Given the description of an element on the screen output the (x, y) to click on. 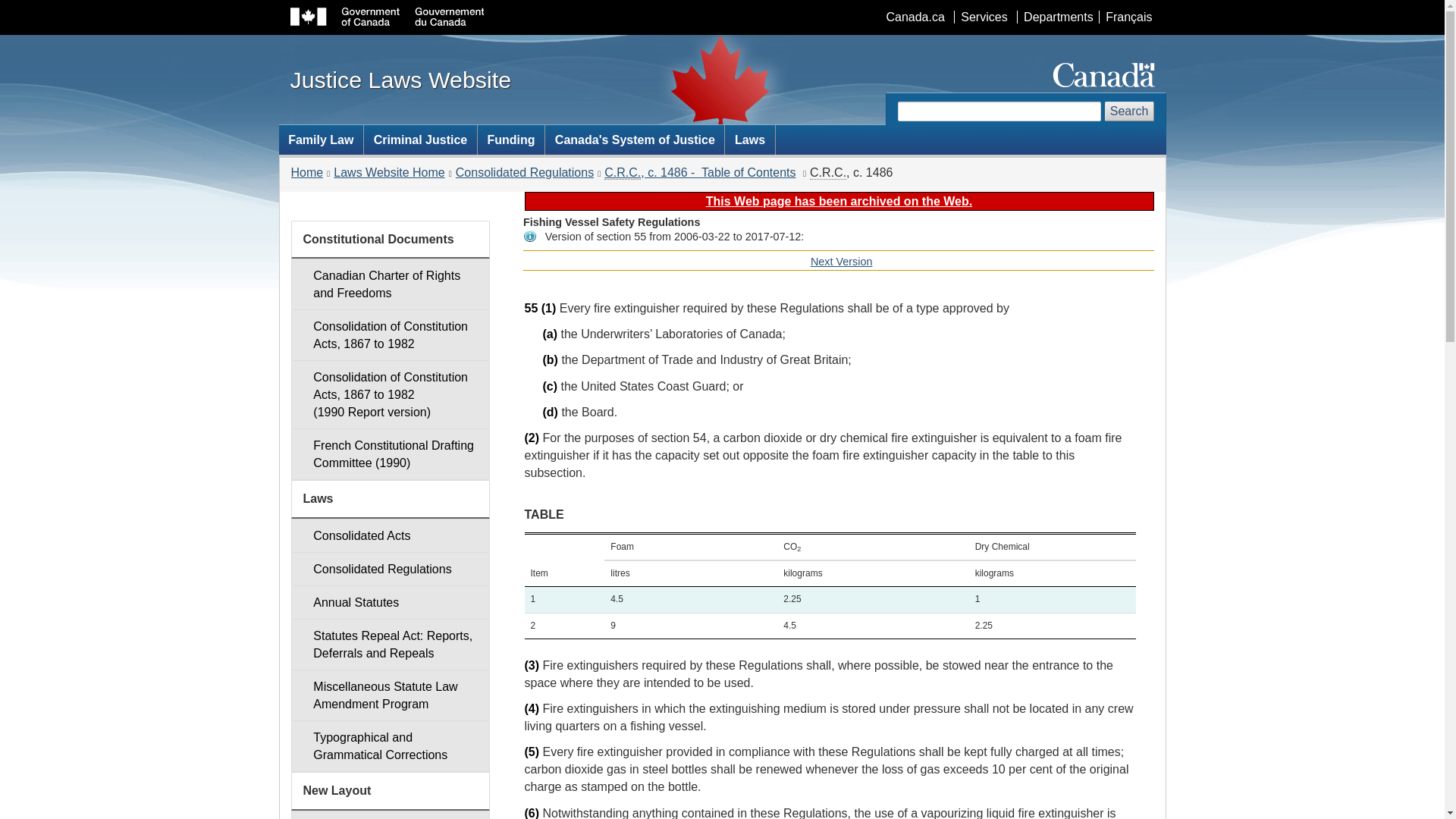
Canadian Charter of Rights and Freedoms (390, 284)
Consolidated Acts (390, 535)
Consolidated Regulations of Canada (827, 172)
Departments (1057, 16)
New Layout for Legislation (390, 814)
Consolidation of Constitution Acts, 1867 to 1982 (390, 335)
Canada.ca (914, 16)
Laws Website Home (388, 172)
Consolidated Regulations (390, 569)
Skip to main content (725, 11)
